Given the description of an element on the screen output the (x, y) to click on. 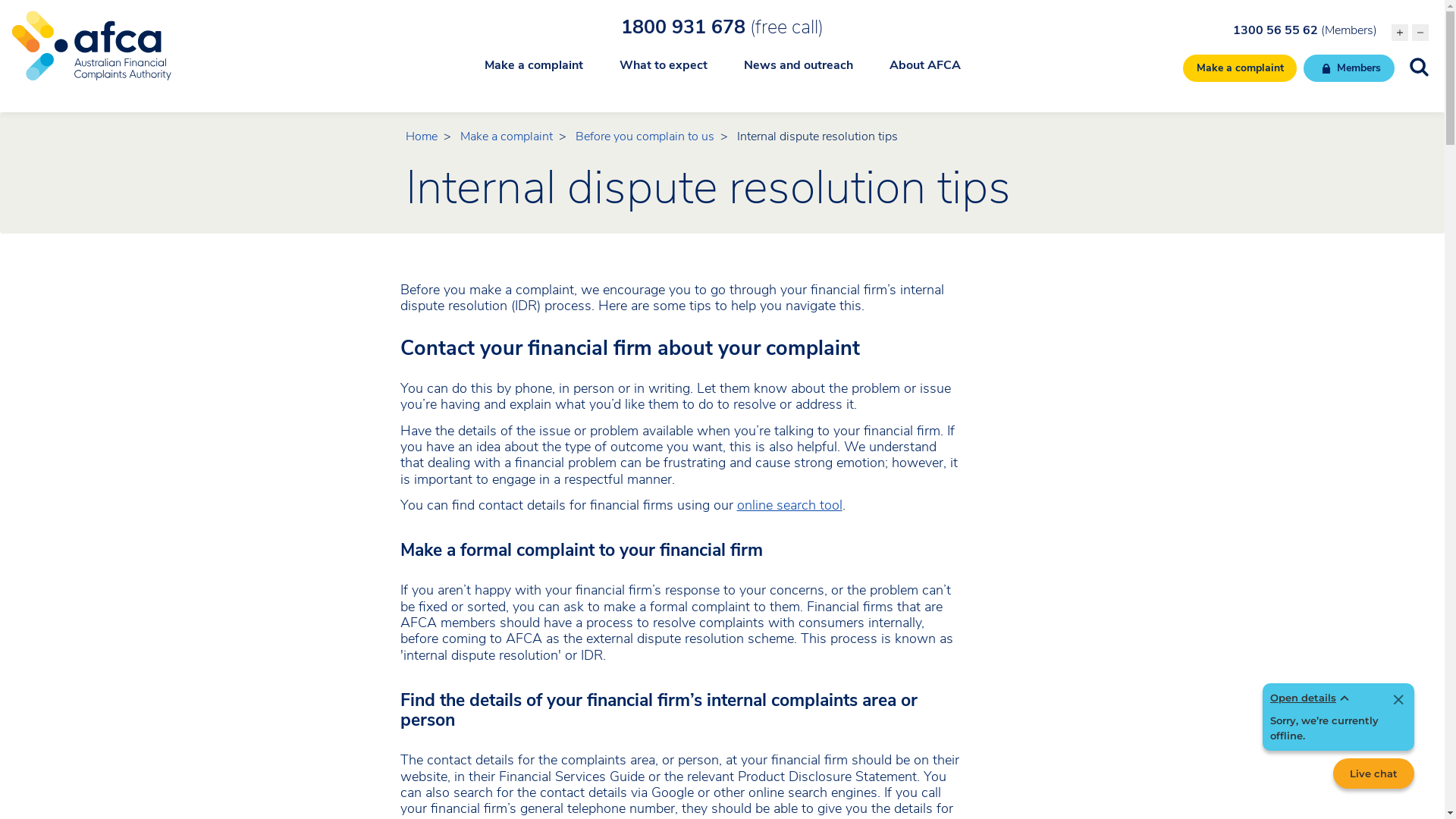
Skip to main content Element type: text (721, 1)
Make a complaint Element type: text (506, 136)
Home Element type: text (421, 136)
News and outreach Element type: text (797, 75)
1300 56 55 62 (Members) Element type: text (1305, 29)
Make a complaint Element type: text (532, 75)
Live chat Element type: text (1373, 773)
Click here to perform a search Element type: text (1418, 66)
Make a complaint Element type: text (1240, 67)
Members Element type: text (1348, 67)
Before you complain to us Element type: text (644, 136)
Open details Element type: text (1311, 697)
About AFCA Element type: text (924, 75)
What to expect Element type: text (662, 75)
A Element type: text (1399, 32)
A Element type: text (1420, 32)
Search Element type: text (79, 17)
online search tool Element type: text (789, 504)
1800 931 678 (free call) Element type: text (722, 27)
Close the status popup Element type: text (1398, 700)
